Given the description of an element on the screen output the (x, y) to click on. 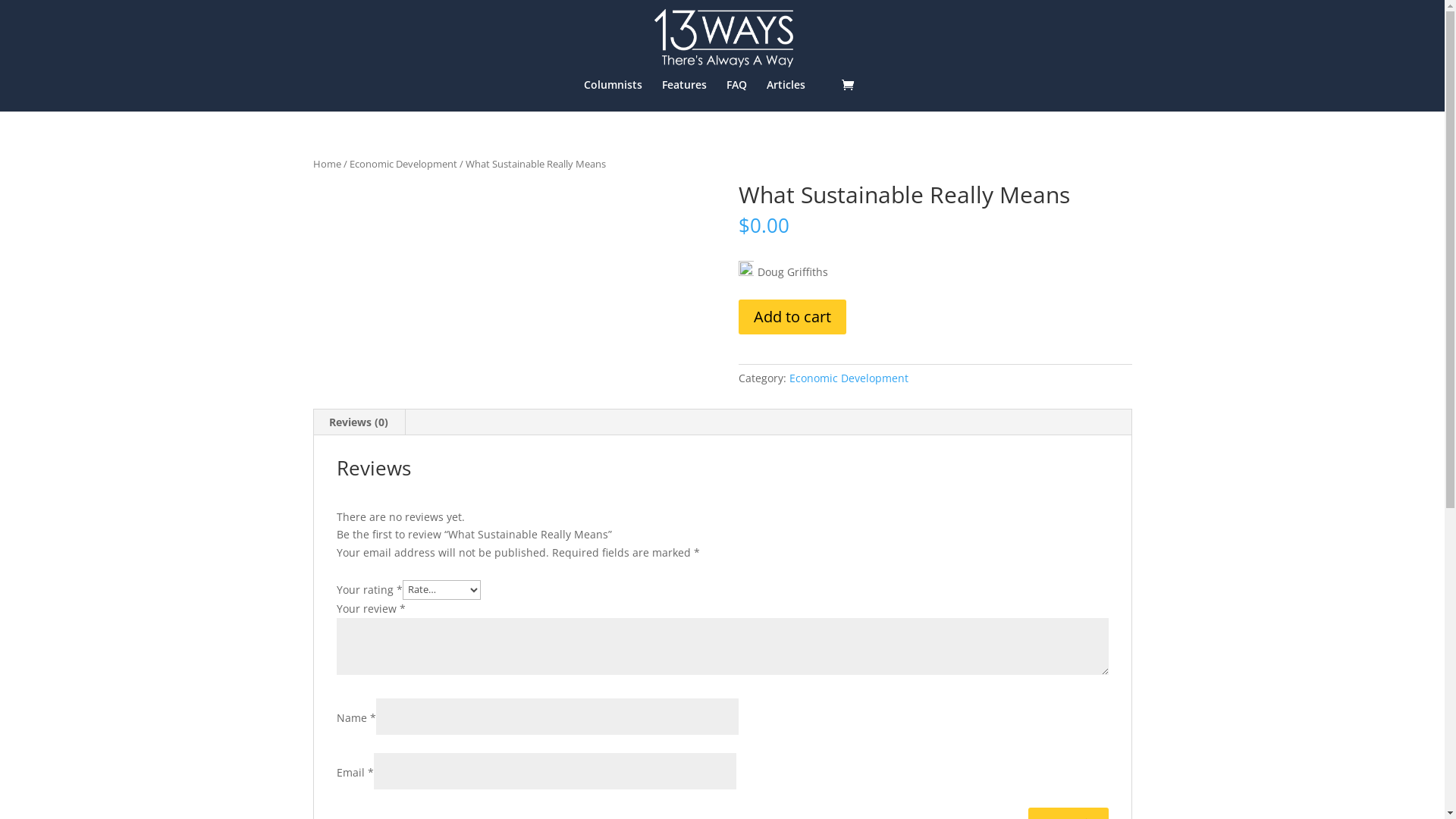
Reviews (0) Element type: text (358, 422)
Add to cart Element type: text (792, 316)
Columnists Element type: text (612, 95)
Economic Development Element type: text (402, 163)
Features Element type: text (683, 95)
Economic Development Element type: text (848, 377)
Articles Element type: text (784, 95)
FAQ Element type: text (736, 95)
Home Element type: text (326, 163)
